Given the description of an element on the screen output the (x, y) to click on. 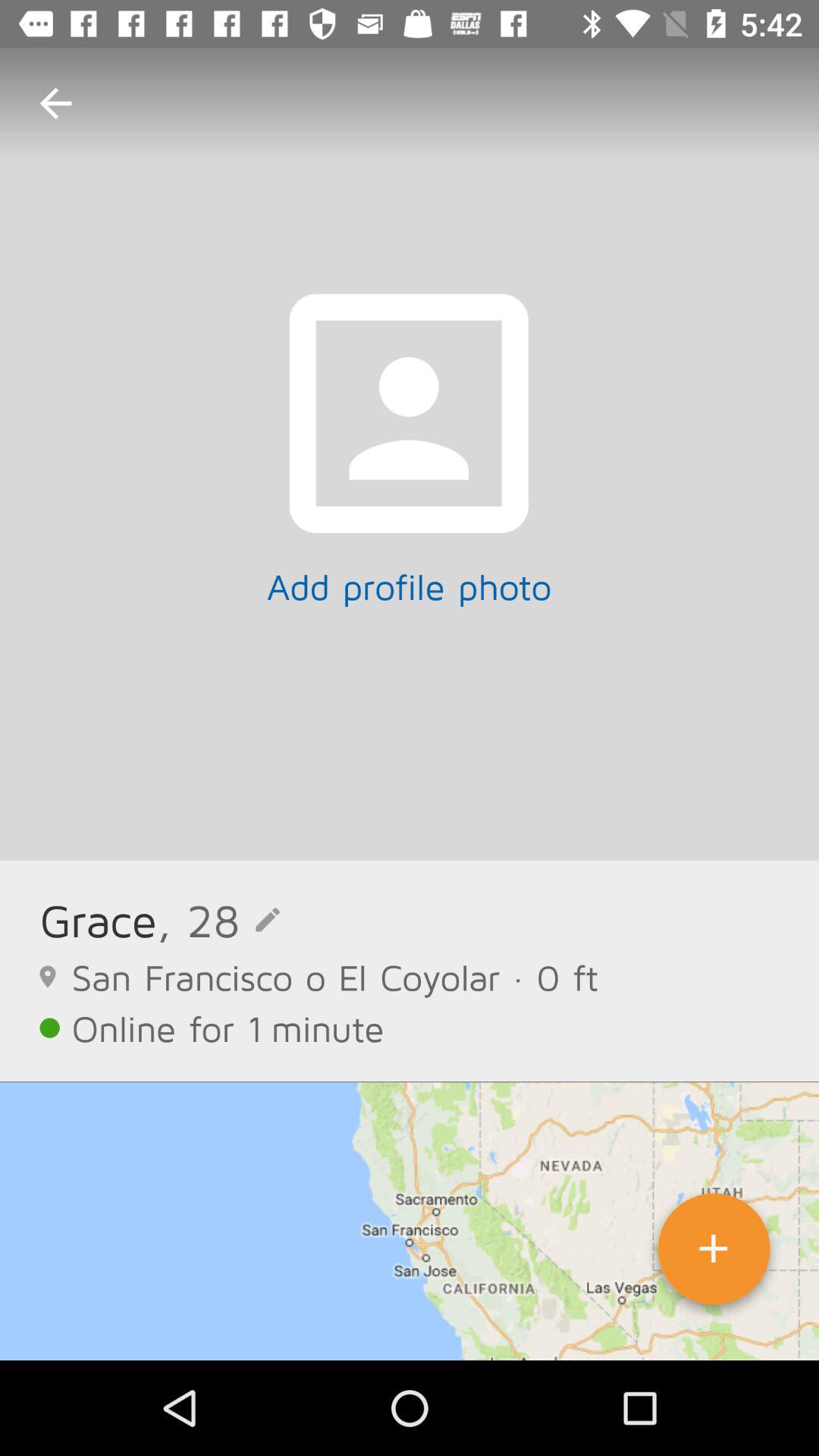
select the icon next to the , 28 item (97, 919)
